Given the description of an element on the screen output the (x, y) to click on. 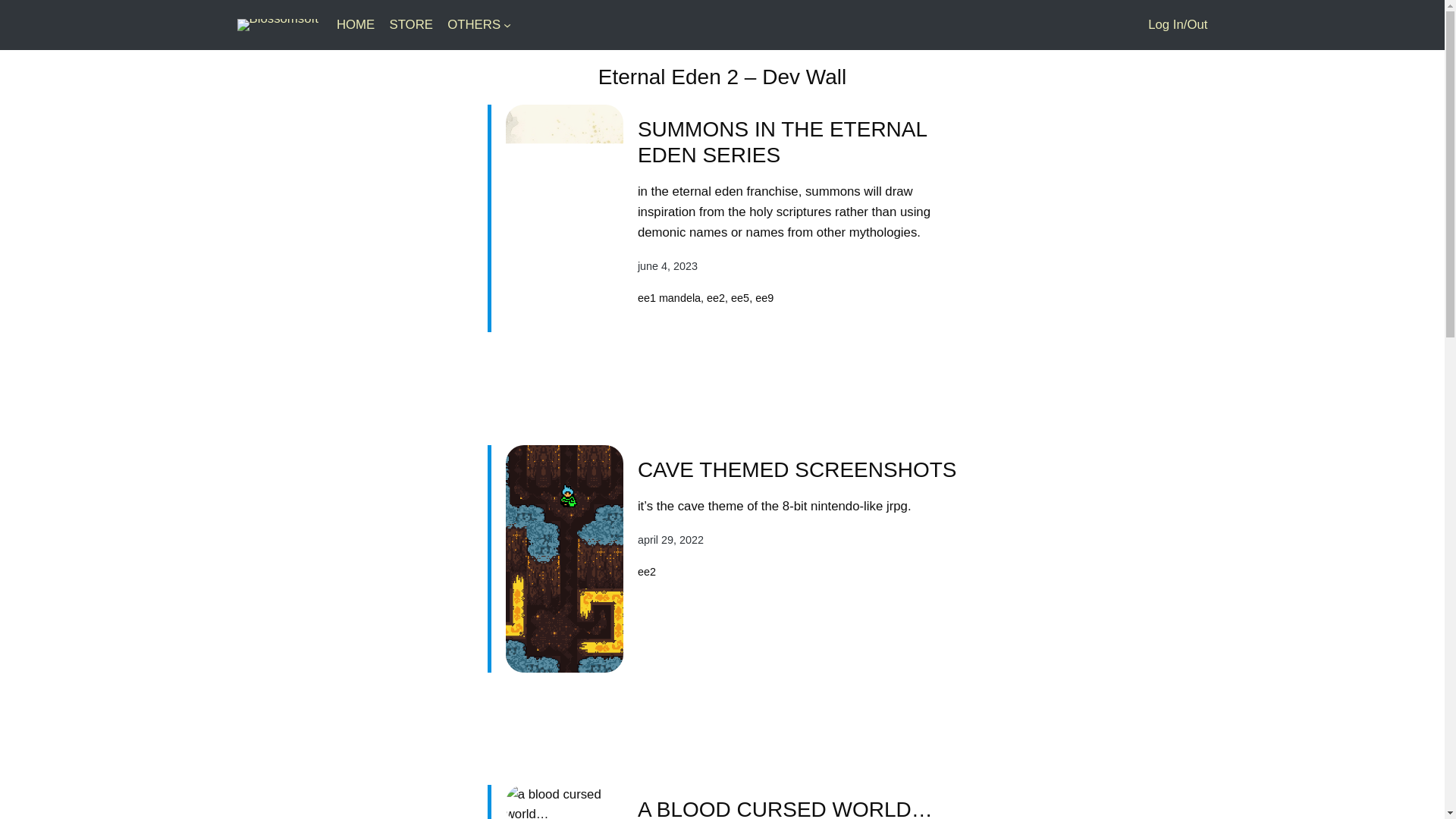
ee9 (764, 297)
ee2 (715, 297)
ee2 (646, 571)
STORE (410, 25)
ee1 mandela (668, 297)
ee5 (739, 297)
CAVE THEMED SCREENSHOTS (796, 470)
SUMMONS IN THE ETERNAL EDEN SERIES (797, 142)
HOME (355, 25)
OTHERS (473, 25)
